Given the description of an element on the screen output the (x, y) to click on. 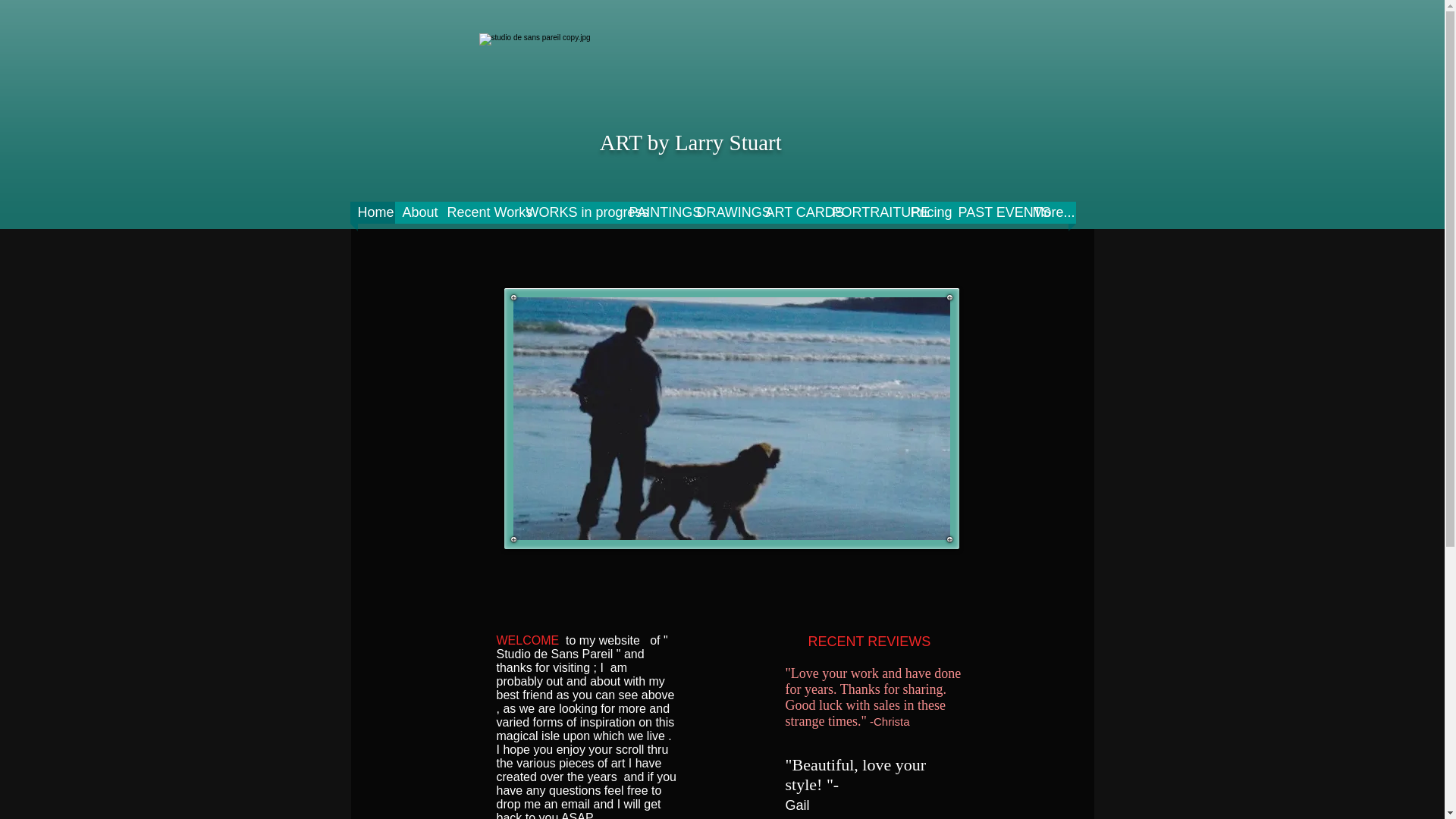
Home (372, 212)
WORKS in progress (569, 212)
About (416, 212)
ART CARDS (791, 212)
PAST EVENTS (987, 212)
Pricing (926, 212)
PAINTINGS (654, 212)
DRAWINGS (722, 212)
Recent Works (478, 212)
PORTRAITURE (863, 212)
